Given the description of an element on the screen output the (x, y) to click on. 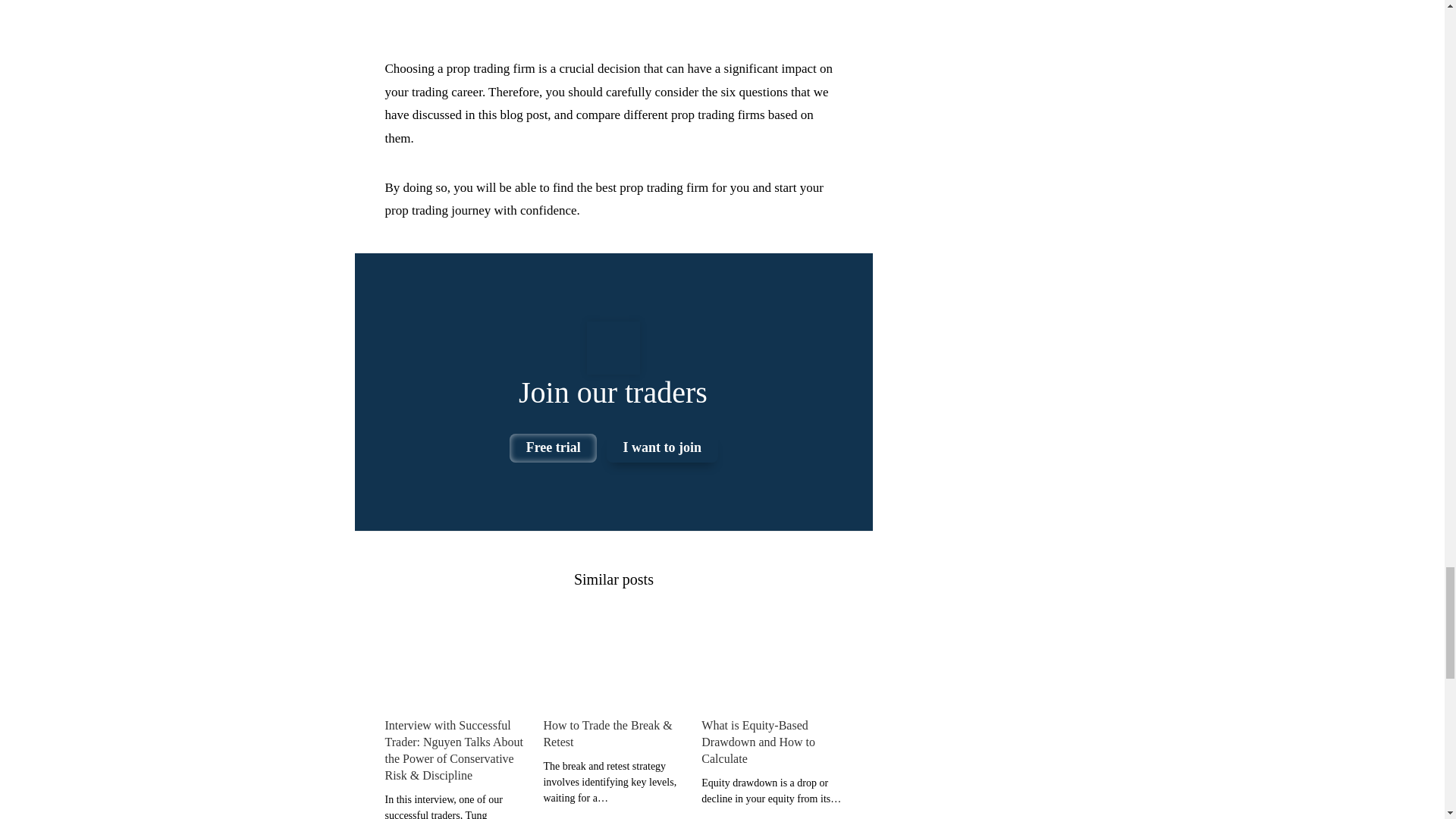
What is Equity-Based Drawdown and How to Calculate (771, 739)
What is Equity-Based Drawdown and How to Calculate (771, 739)
I want to join (662, 448)
Free trial (552, 448)
What is Equity-Based Drawdown and How to Calculate (771, 666)
